Given the description of an element on the screen output the (x, y) to click on. 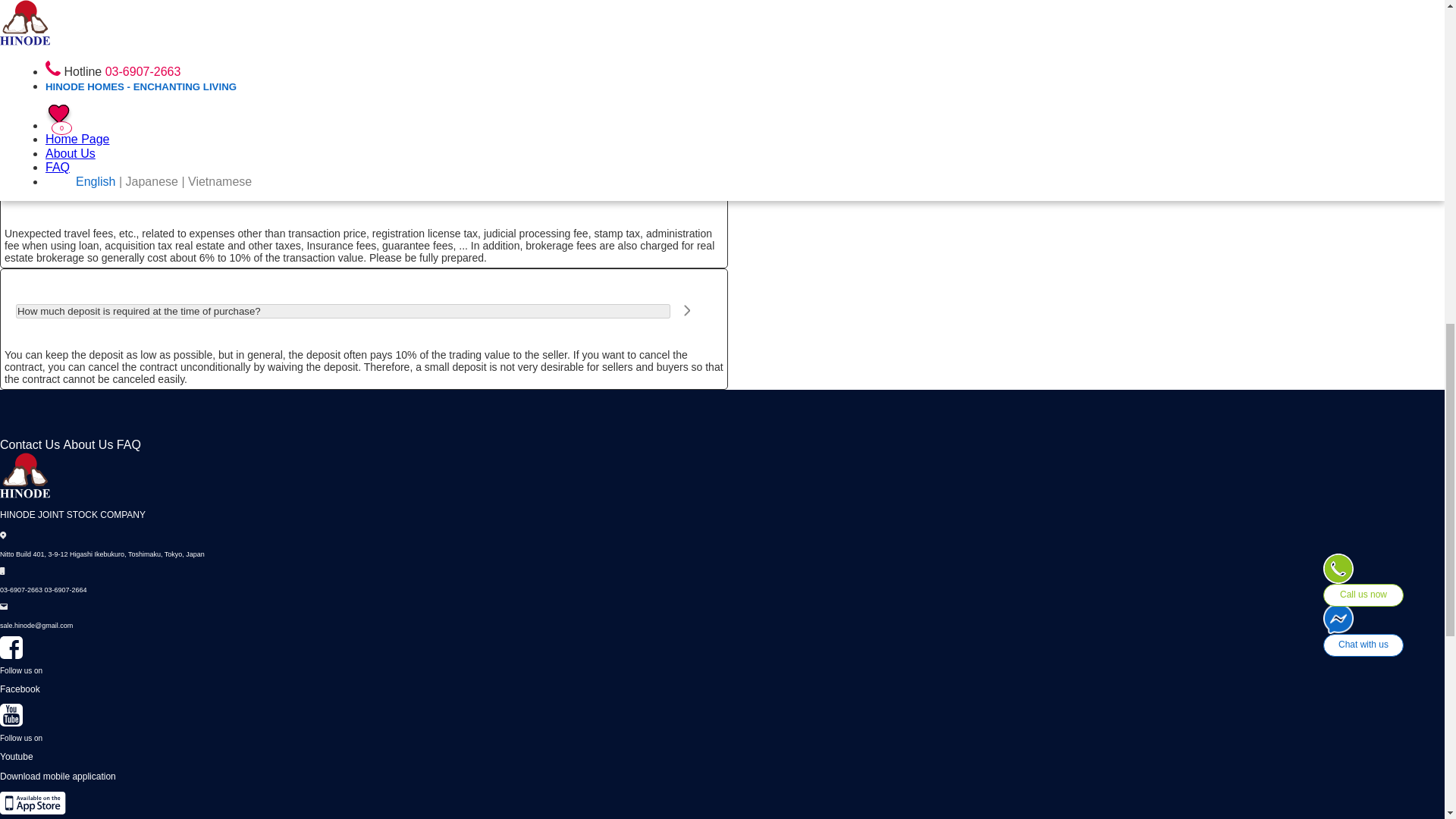
FAQ (128, 444)
How much deposit is required at the time of purchase? (342, 310)
Please tell me how much it costs to buy a home. (342, 189)
About Us (88, 444)
03-6907-2663 (21, 589)
03-6907-2664 (66, 589)
I don't have much savings, can I buy it? (342, 80)
Contact Us (29, 444)
